Given the description of an element on the screen output the (x, y) to click on. 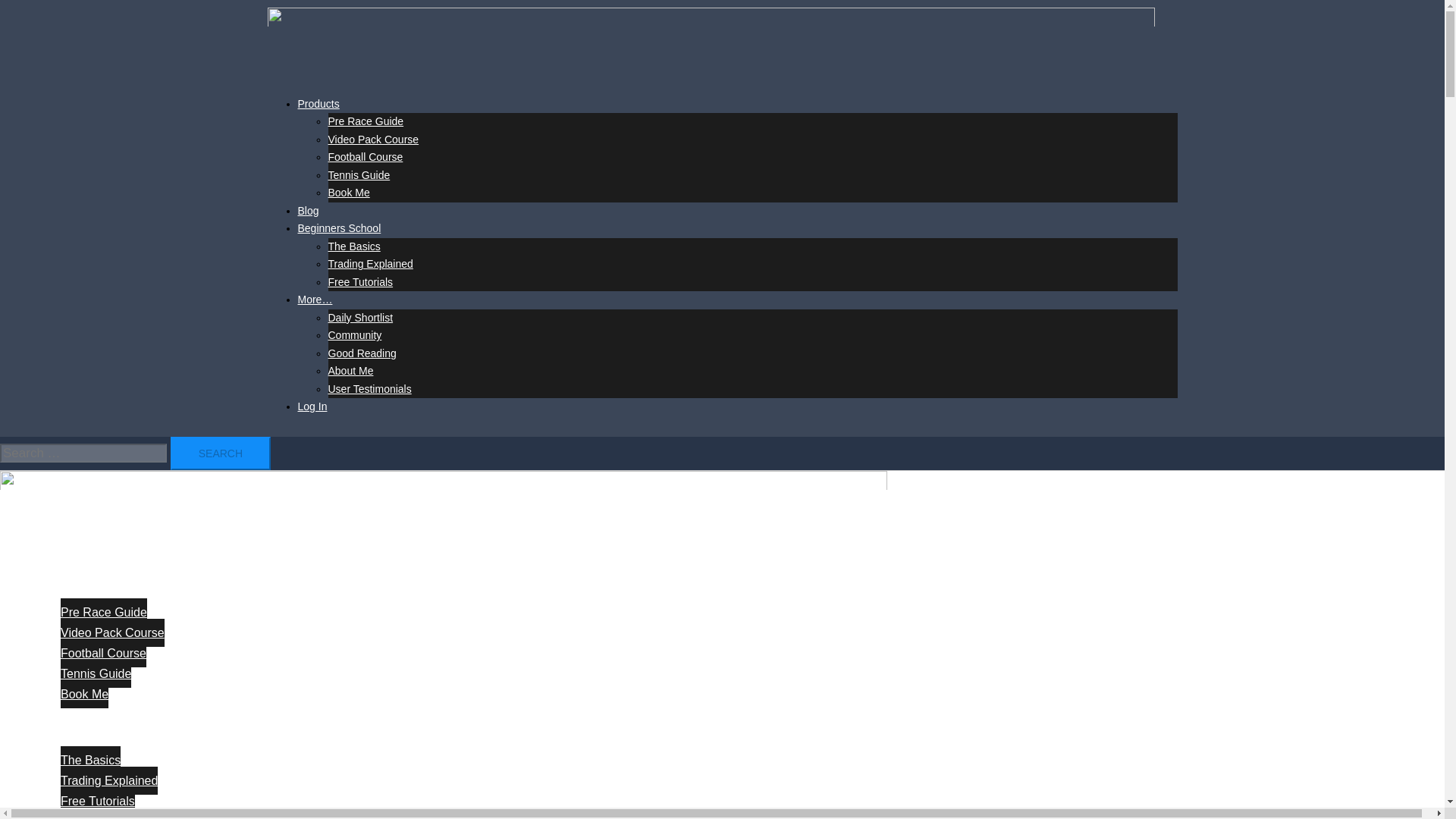
Book Me (348, 192)
Search (220, 453)
Search (220, 453)
About Me (349, 370)
Book Me (84, 694)
Trading Explained (109, 780)
Video Pack Course (373, 139)
Tennis Guide (96, 673)
Free Tutorials (98, 800)
Tennis Guide (358, 174)
Beginners School (338, 227)
Pre Race Guide (104, 612)
Products (57, 591)
Log In (311, 406)
User Testimonials (368, 388)
